Given the description of an element on the screen output the (x, y) to click on. 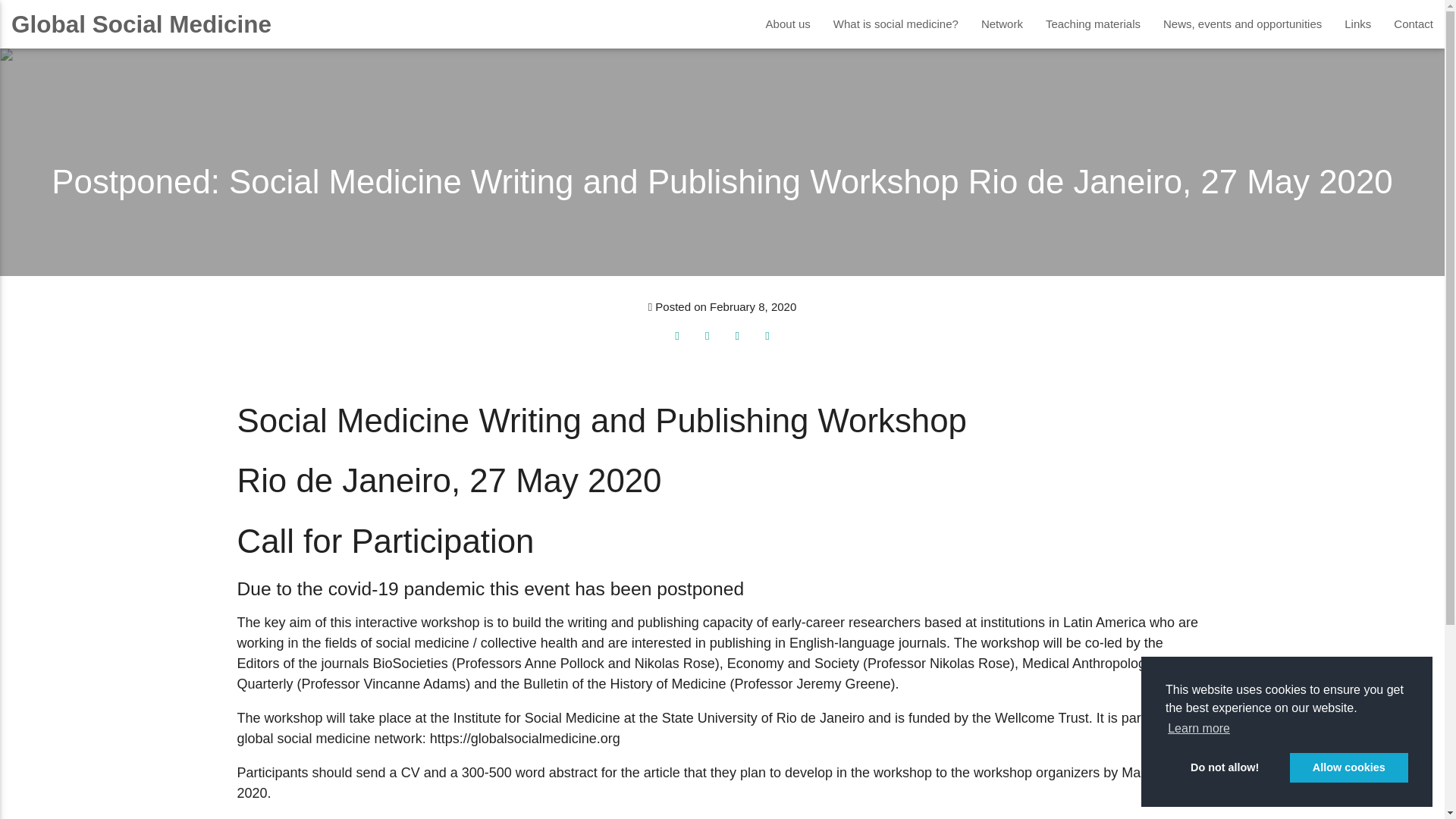
Allow cookies (1348, 767)
News, events and opportunities (1242, 24)
Do not allow! (1225, 767)
Links (1357, 24)
Network (1001, 24)
Learn more (1198, 728)
Teaching materials (1092, 24)
Global Social Medicine (135, 24)
About us (788, 24)
What is social medicine? (895, 24)
